Given the description of an element on the screen output the (x, y) to click on. 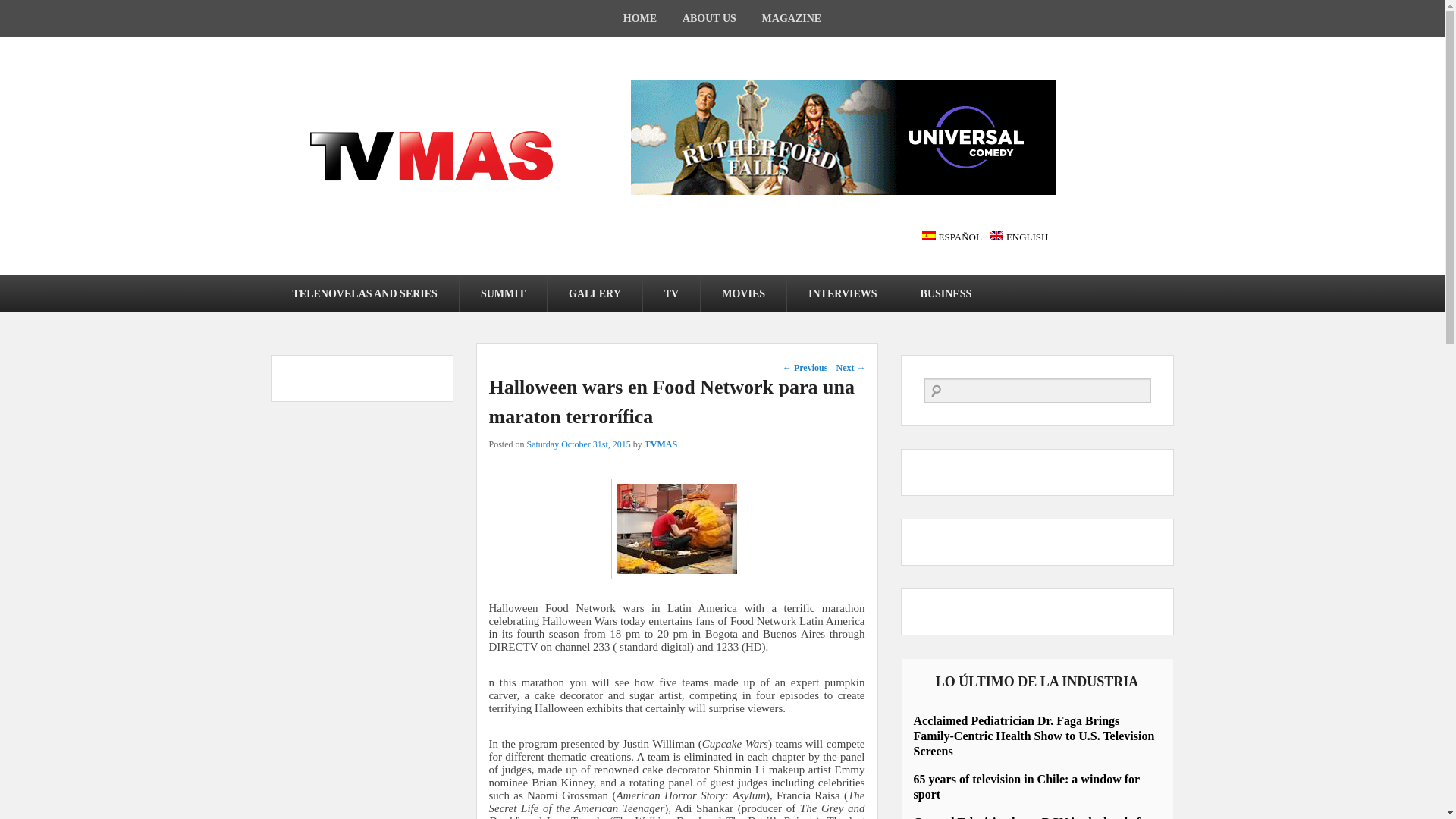
INICIO (639, 18)
TELENOVELAS AND SERIES (364, 293)
ABOUT US (709, 18)
TVMAS Magazine (431, 155)
View all posts by TVMAS (661, 443)
ENGLISH (1019, 236)
SUMMIT (503, 293)
02:45 PM (578, 443)
Skip to secondary content (62, 284)
Skip to secondary content (62, 284)
